Given the description of an element on the screen output the (x, y) to click on. 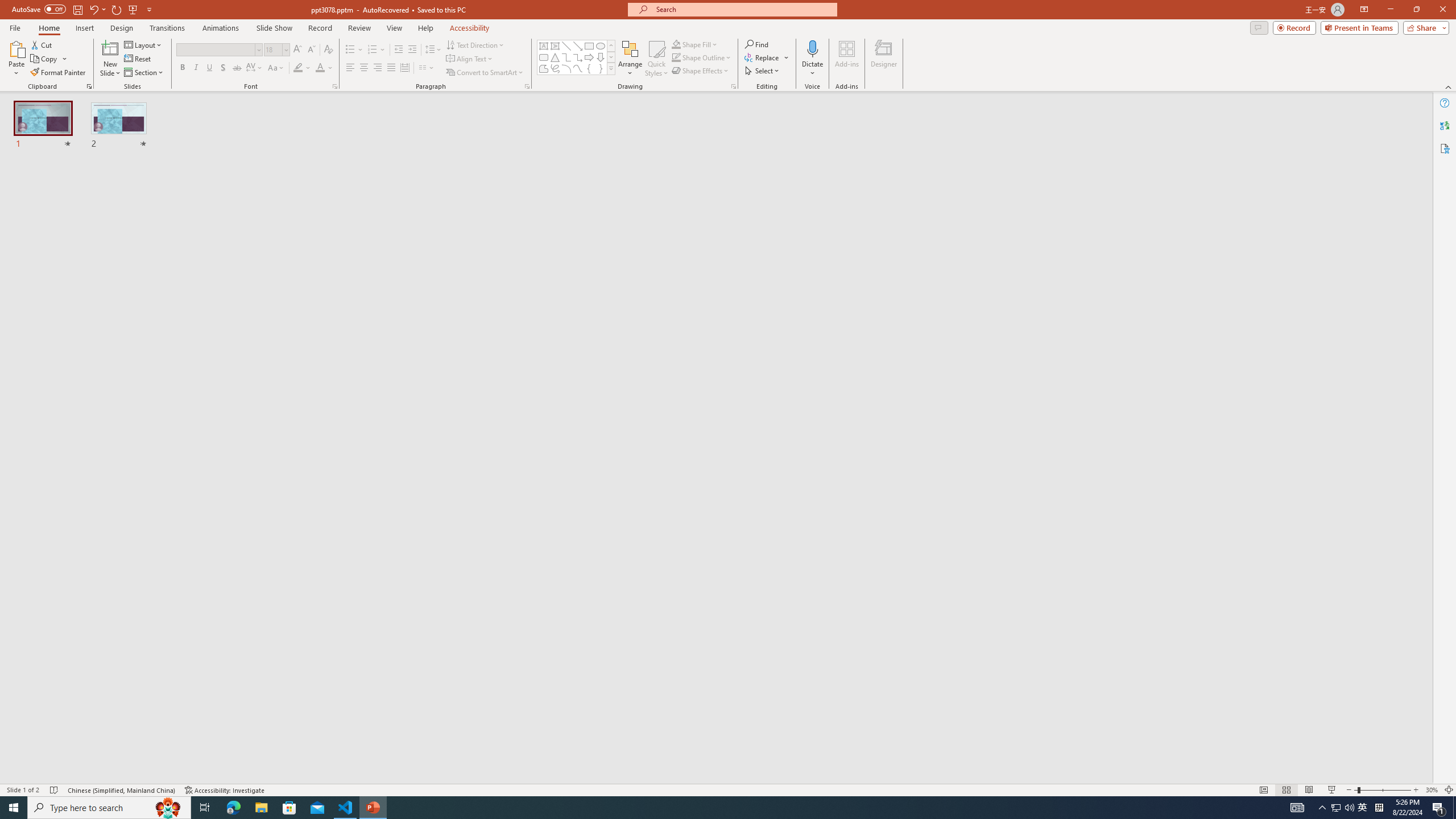
Shape Fill Dark Green, Accent 2 (675, 44)
